Given the description of an element on the screen output the (x, y) to click on. 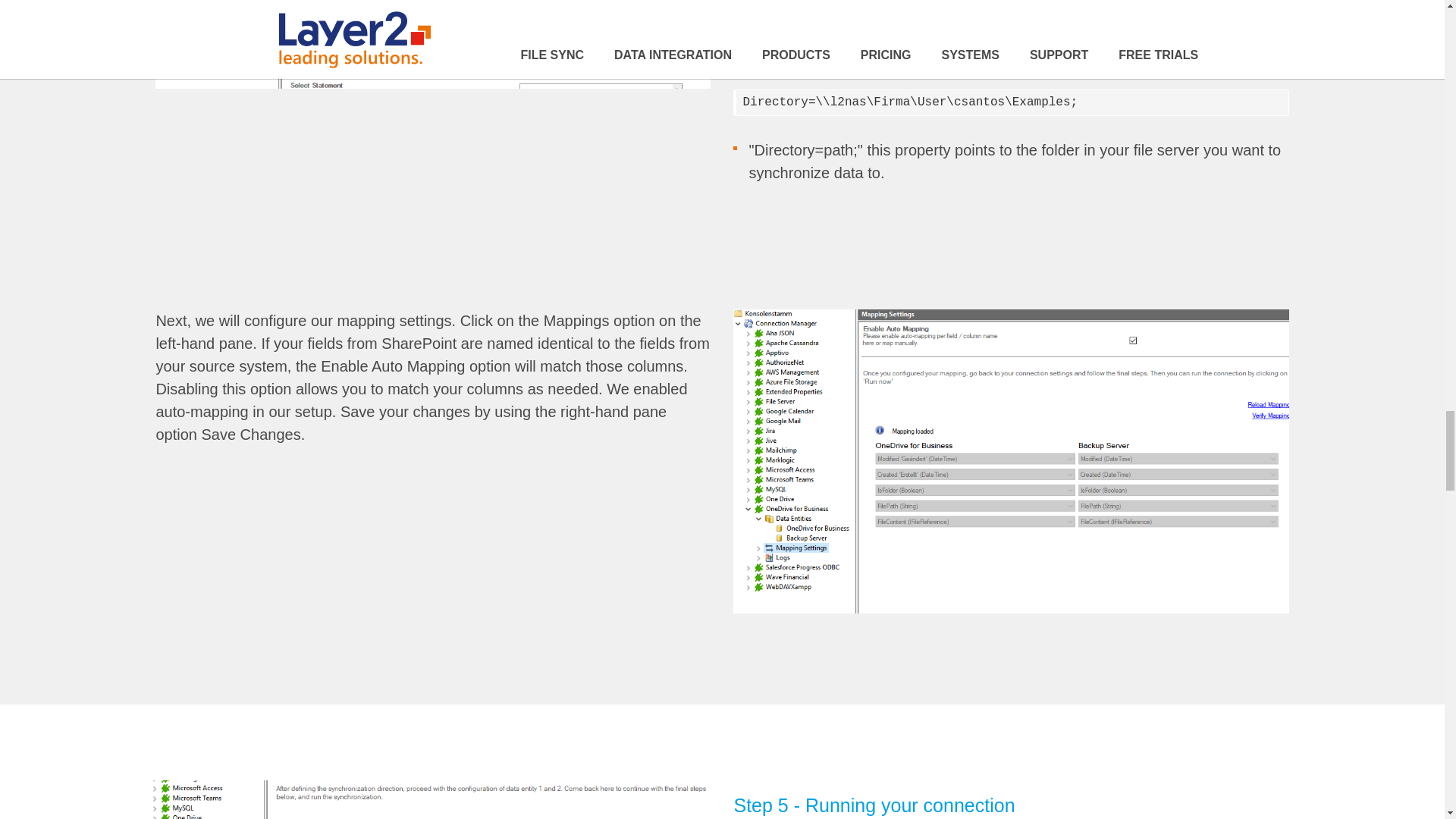
Step 5 OneDrive data integration start (426, 799)
Step 3 OneDrive integration target setup (432, 44)
